Given the description of an element on the screen output the (x, y) to click on. 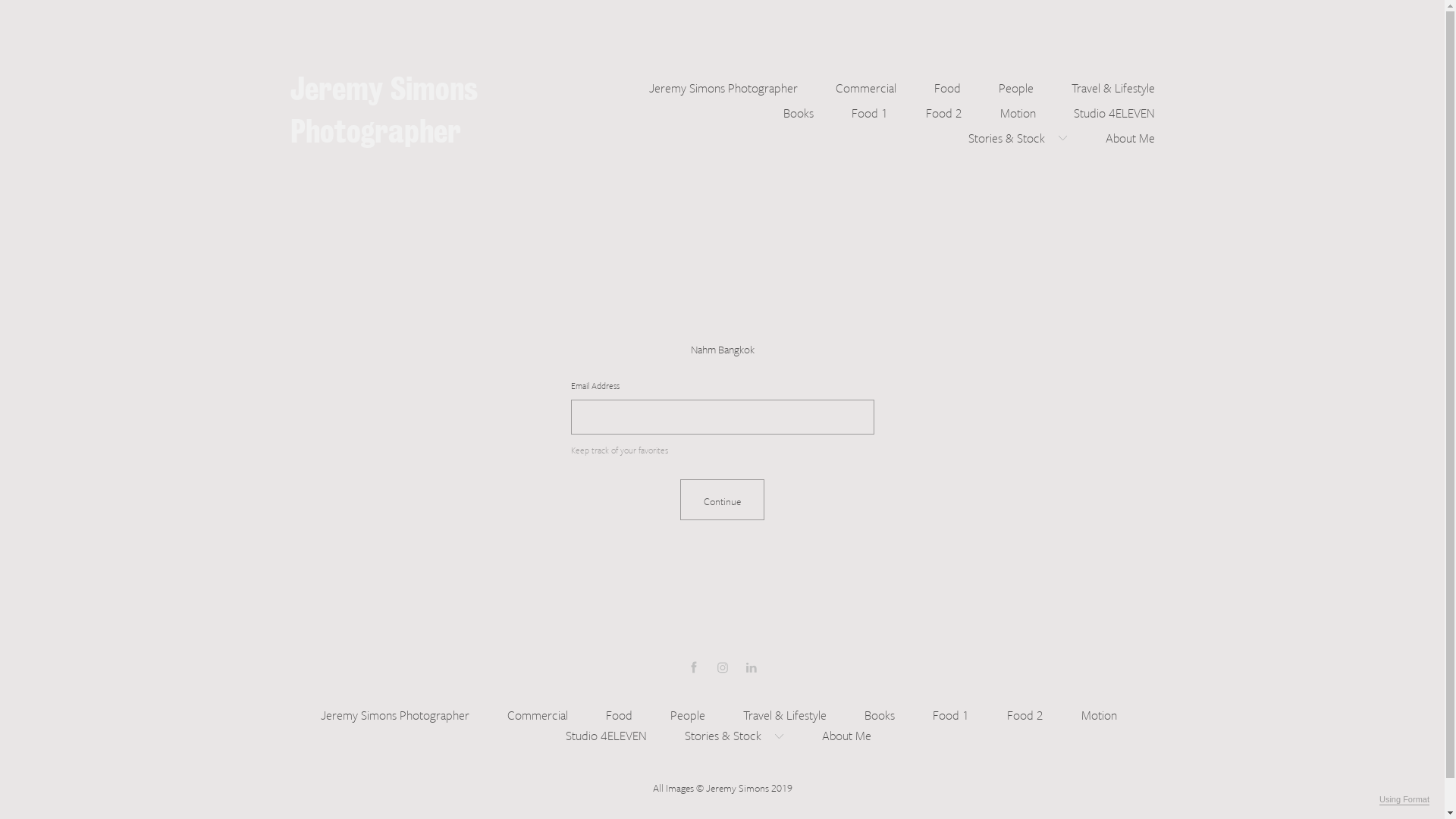
Books Element type: text (879, 712)
Stories & Stock Element type: text (734, 733)
Food 1 Element type: text (868, 110)
Food Element type: text (618, 712)
About Me Element type: text (846, 733)
Studio 4ELEVEN Element type: text (605, 733)
Food 2 Element type: text (1025, 712)
Books Element type: text (797, 110)
Food 1 Element type: text (950, 712)
Travel & Lifestyle Element type: text (784, 712)
Commercial Element type: text (865, 85)
Food 2 Element type: text (943, 110)
People Element type: text (1014, 85)
Food Element type: text (947, 85)
Jeremy Simons Photographer Element type: text (382, 110)
Continue Element type: text (722, 499)
Travel & Lifestyle Element type: text (1112, 85)
Using Format Element type: text (1404, 799)
About Me Element type: text (1129, 135)
Jeremy Simons Photographer Element type: text (394, 712)
People Element type: text (687, 712)
Motion Element type: text (1099, 712)
Jeremy Simons Photographer Element type: text (723, 85)
Stories & Stock Element type: text (1016, 135)
Commercial Element type: text (536, 712)
Motion Element type: text (1017, 110)
Studio 4ELEVEN Element type: text (1113, 110)
